Given the description of an element on the screen output the (x, y) to click on. 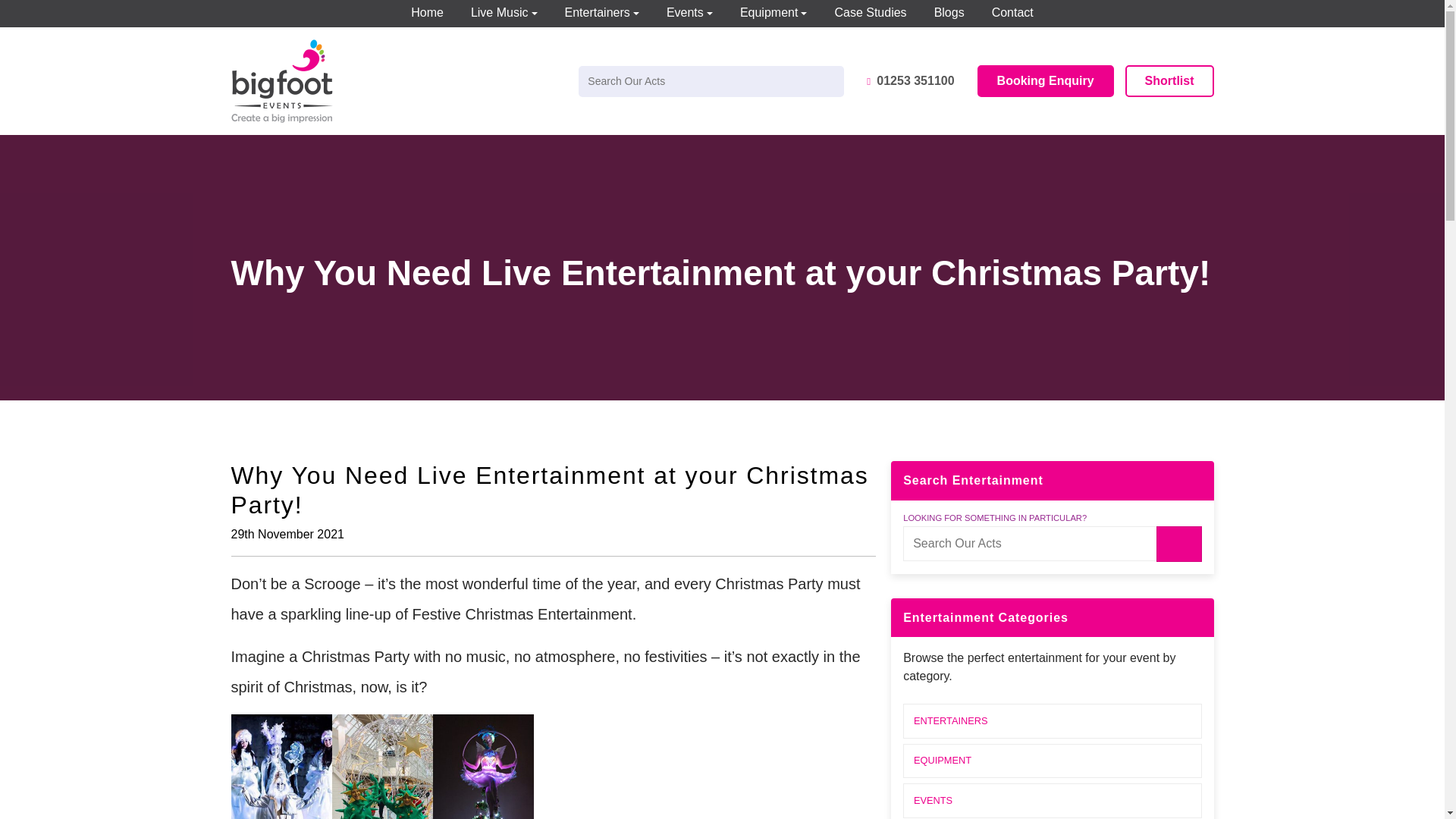
Live Music (503, 13)
icon-search (1178, 544)
icon-search (831, 81)
Home (426, 13)
